Given the description of an element on the screen output the (x, y) to click on. 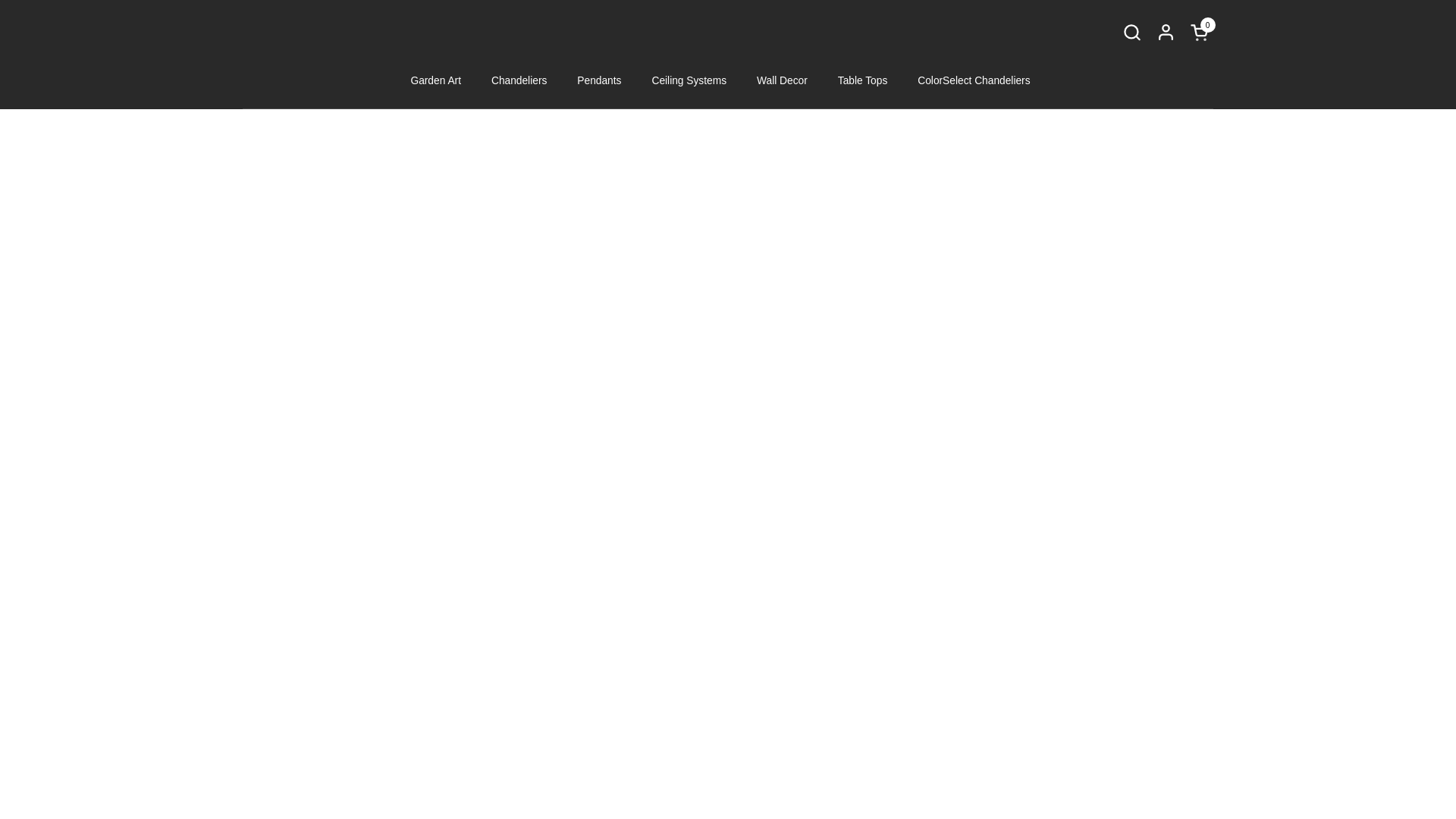
ColorSelect Chandeliers (1201, 31)
Garden Art (973, 80)
Open search (435, 80)
Pendants (1131, 31)
Table Tops (599, 80)
Ceiling Systems (862, 80)
Open cart (688, 80)
Skip to content (1201, 31)
Wall Decor (519, 80)
